Given the description of an element on the screen output the (x, y) to click on. 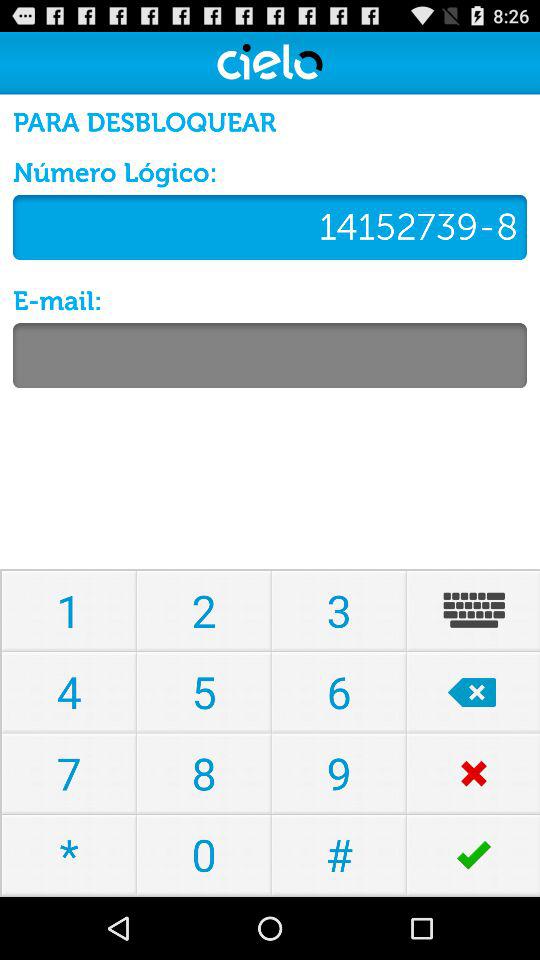
to type mail bar (269, 355)
